Given the description of an element on the screen output the (x, y) to click on. 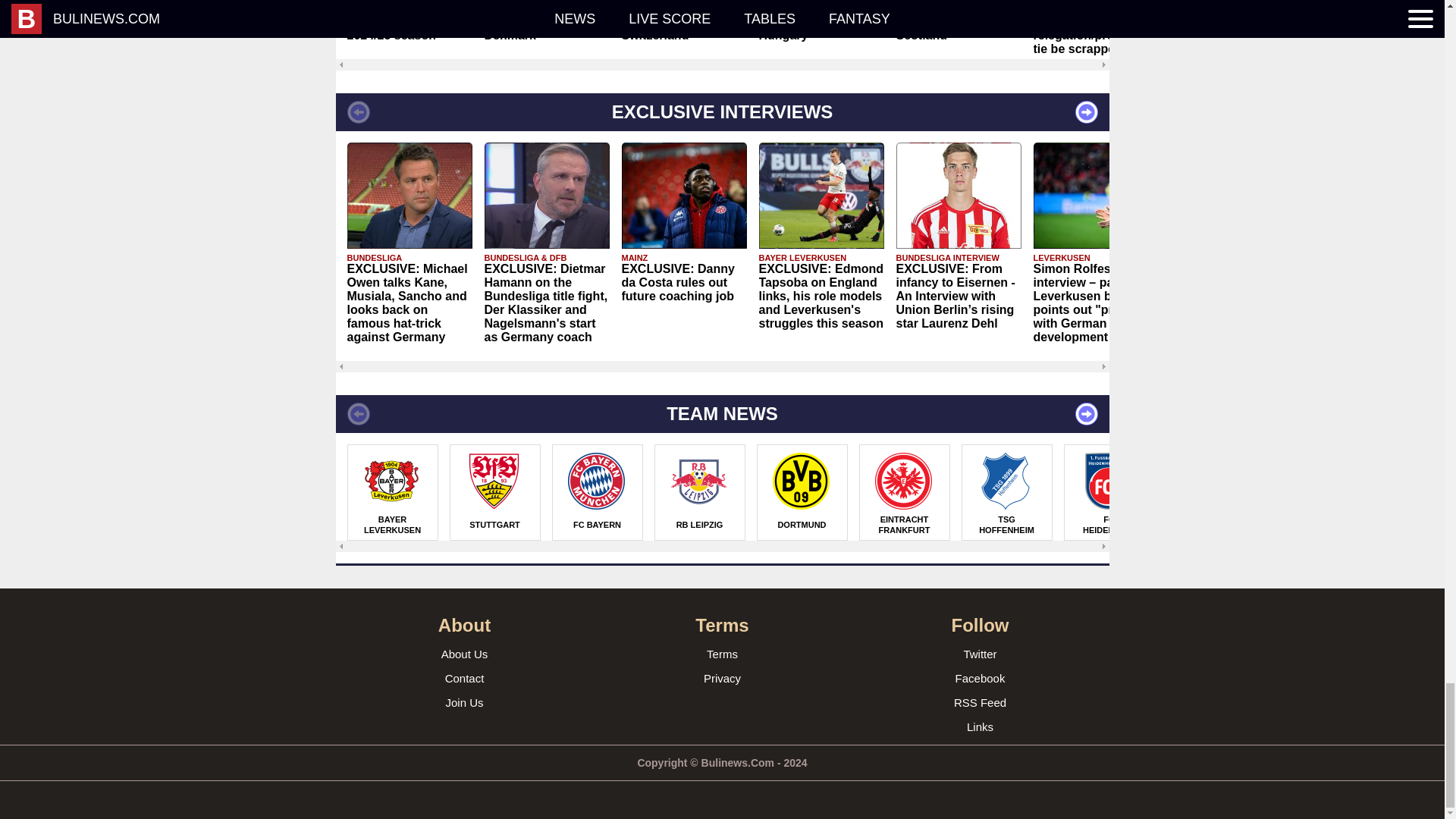
TEAM NEWS (721, 413)
EXCLUSIVE INTERVIEWS (721, 112)
